Given the description of an element on the screen output the (x, y) to click on. 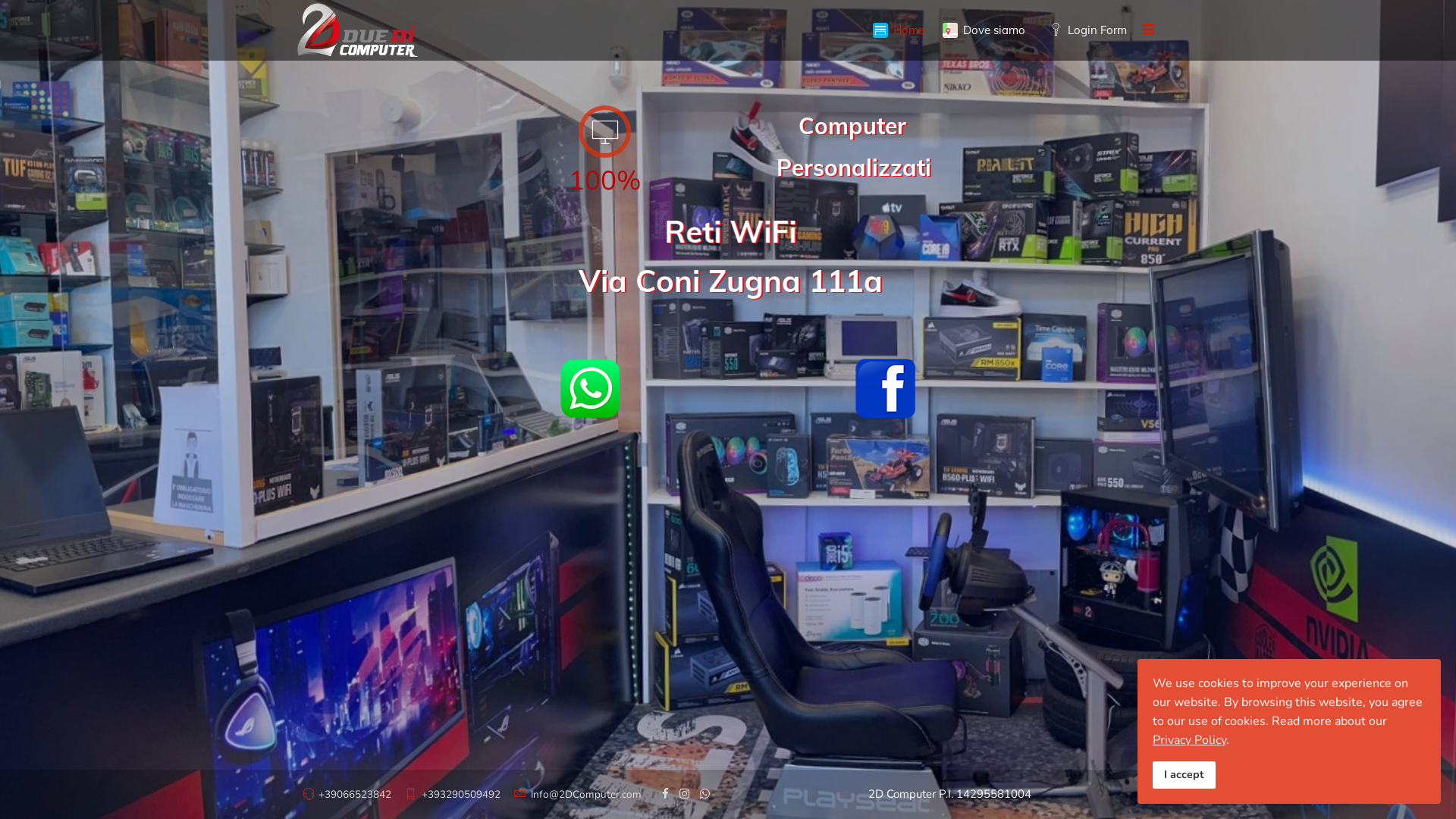
Menu Element type: hover (1147, 29)
Info@2DComputer.com Element type: text (585, 794)
+393290509492 Element type: text (460, 794)
Login Form Element type: text (1084, 30)
I accept Element type: text (1183, 774)
Home Element type: text (898, 30)
Dove siamo Element type: text (983, 30)
Privacy Policy Element type: text (1189, 739)
+39066523842 Element type: text (354, 794)
